Given the description of an element on the screen output the (x, y) to click on. 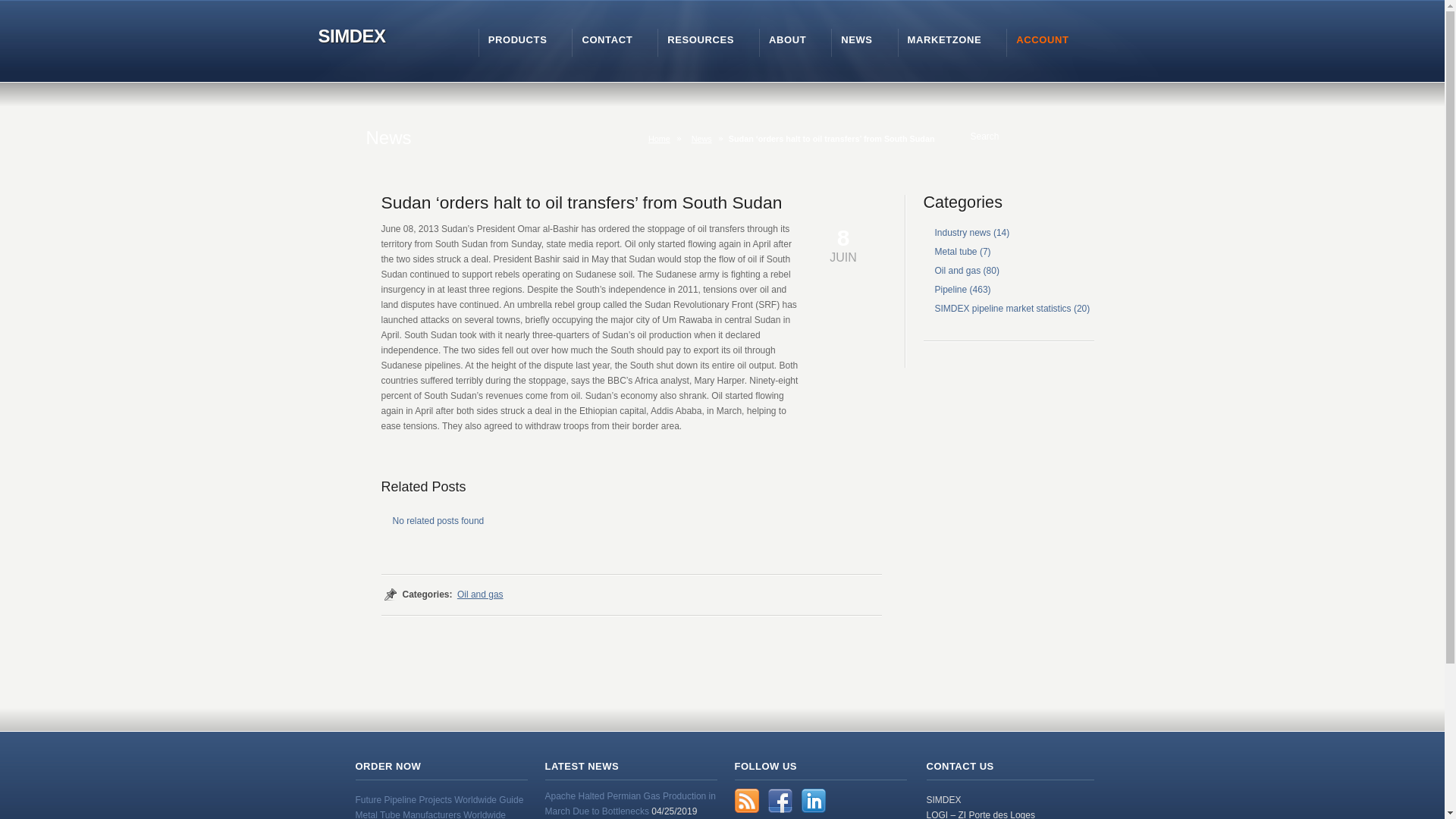
search (960, 136)
Metal Tube Manufacturers Worldwide Guide (430, 814)
ABOUT (787, 39)
ACCOUNT (1042, 39)
SIMDEX (349, 37)
Oil and gas (956, 270)
NEWS (856, 39)
SIMDEX pipeline market statistics (1002, 308)
News (704, 138)
search (960, 136)
Metal tube (955, 251)
RESOURCES (699, 39)
Home (662, 138)
CONTACT (605, 39)
